Given the description of an element on the screen output the (x, y) to click on. 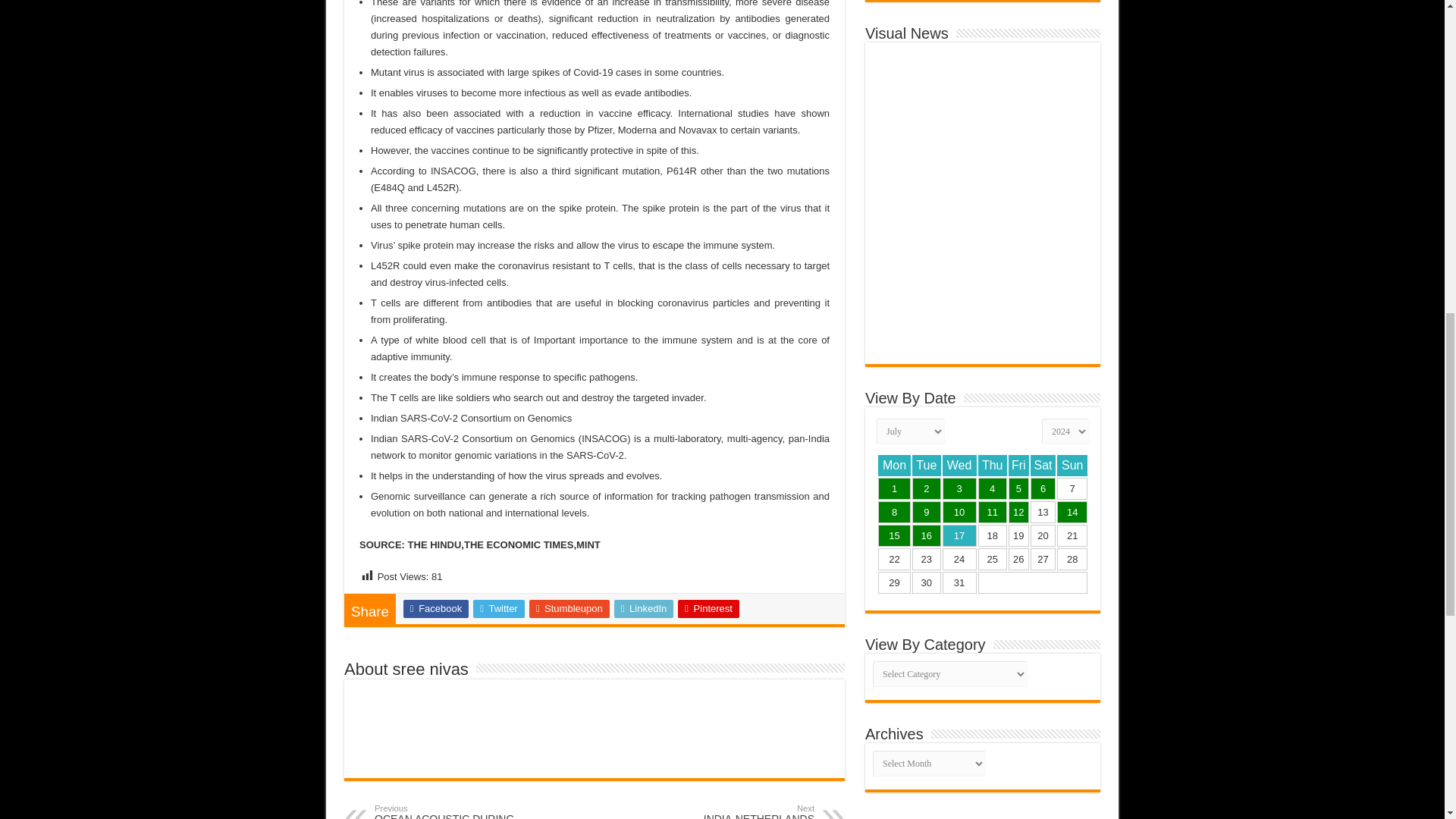
Tuesday (926, 465)
Wednesday (959, 465)
Monday (894, 465)
Saturday (1043, 465)
Thursday (992, 465)
Sunday (1072, 465)
Twitter (498, 608)
Sustainable Development in the Indian Himalayan Region (894, 488)
Facebook (435, 608)
Friday (1019, 465)
